Given the description of an element on the screen output the (x, y) to click on. 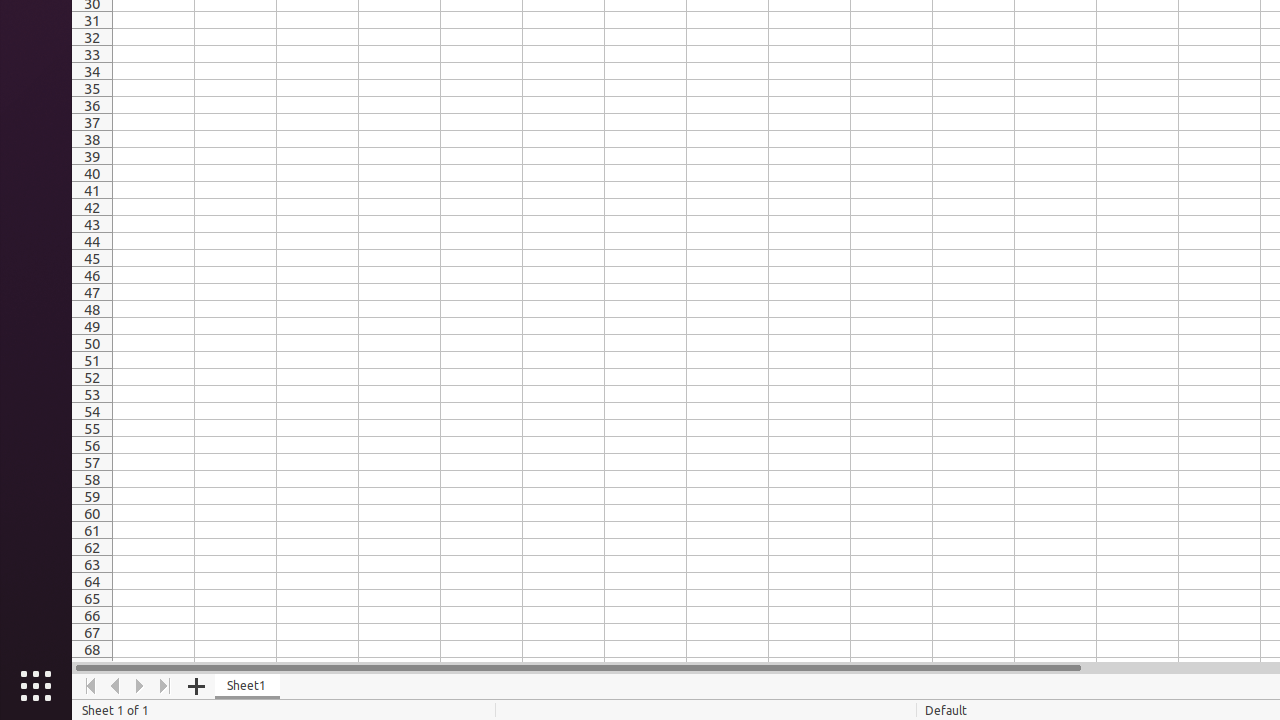
Sheet1 Element type: page-tab (247, 686)
Move To End Element type: push-button (165, 686)
Move To Home Element type: push-button (90, 686)
Move Right Element type: push-button (140, 686)
Show Applications Element type: toggle-button (36, 686)
